Given the description of an element on the screen output the (x, y) to click on. 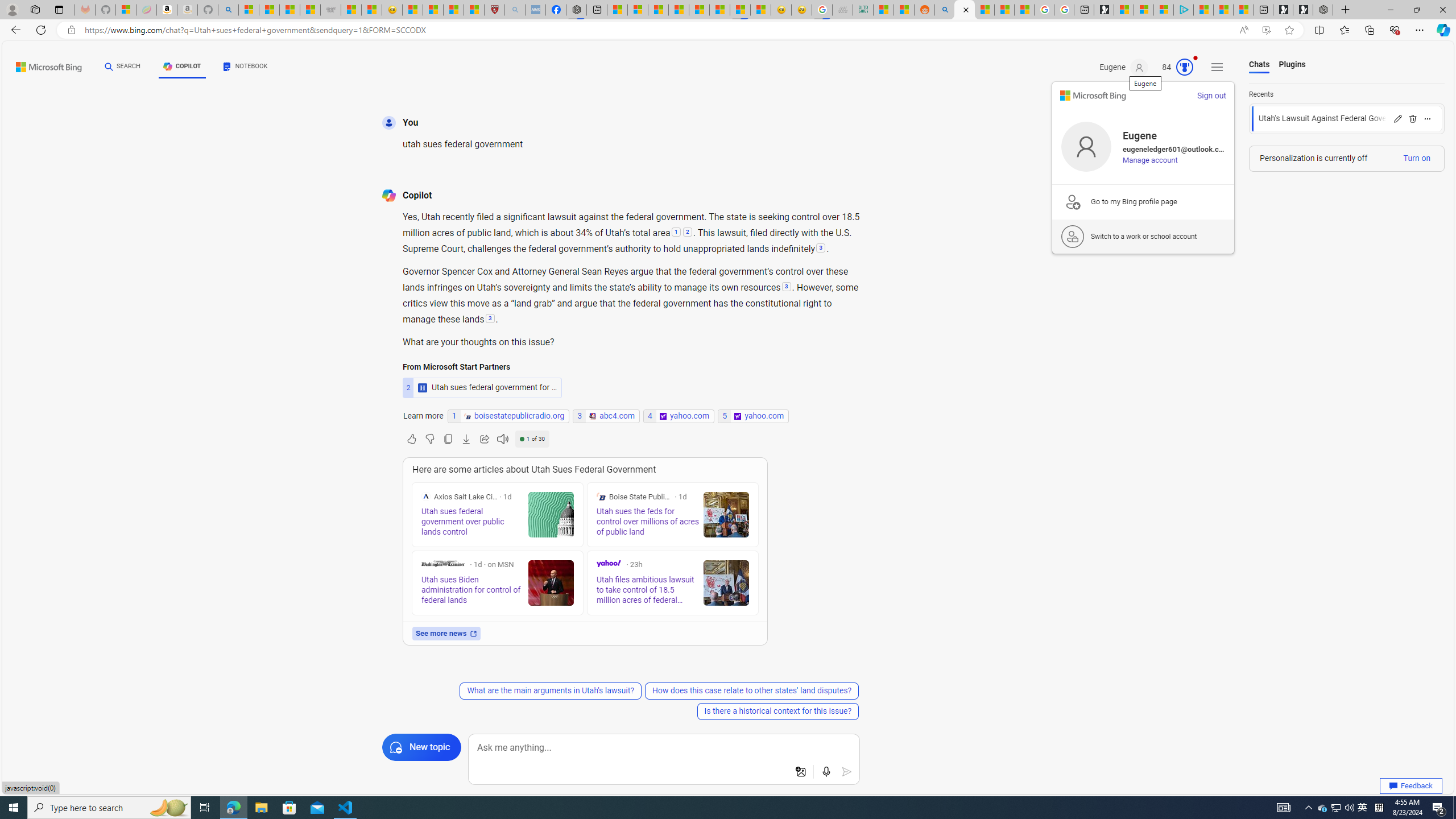
Ask me anything... (663, 748)
